Given the description of an element on the screen output the (x, y) to click on. 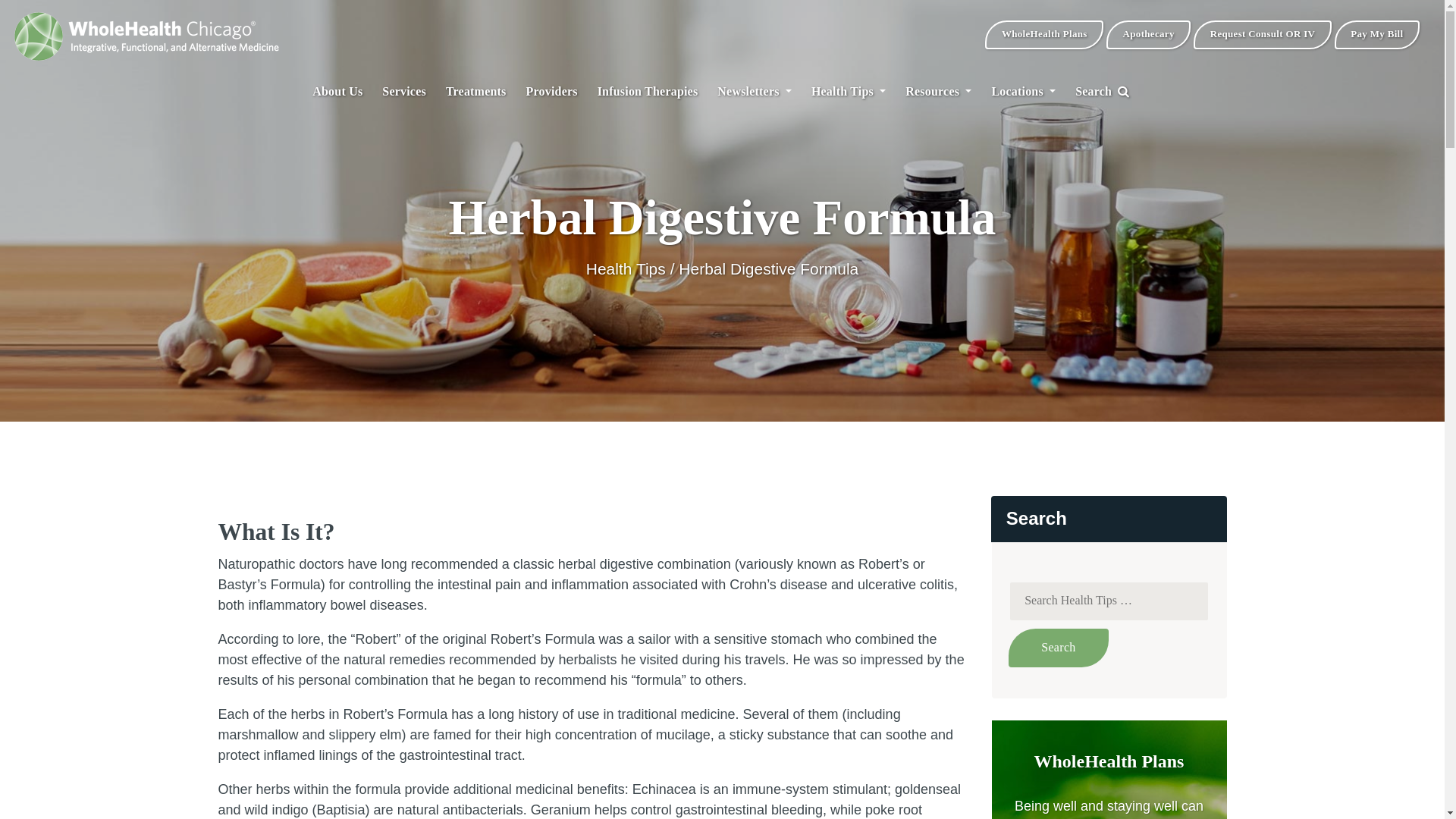
Treatments (476, 91)
Pay My Bill (1377, 34)
Apothecary (1148, 34)
WholeHealth Plans (1044, 34)
Infusion Therapies (647, 91)
Search (1058, 647)
Health Tips (848, 91)
About Us (337, 91)
Resources (938, 91)
Search (1058, 647)
